Given the description of an element on the screen output the (x, y) to click on. 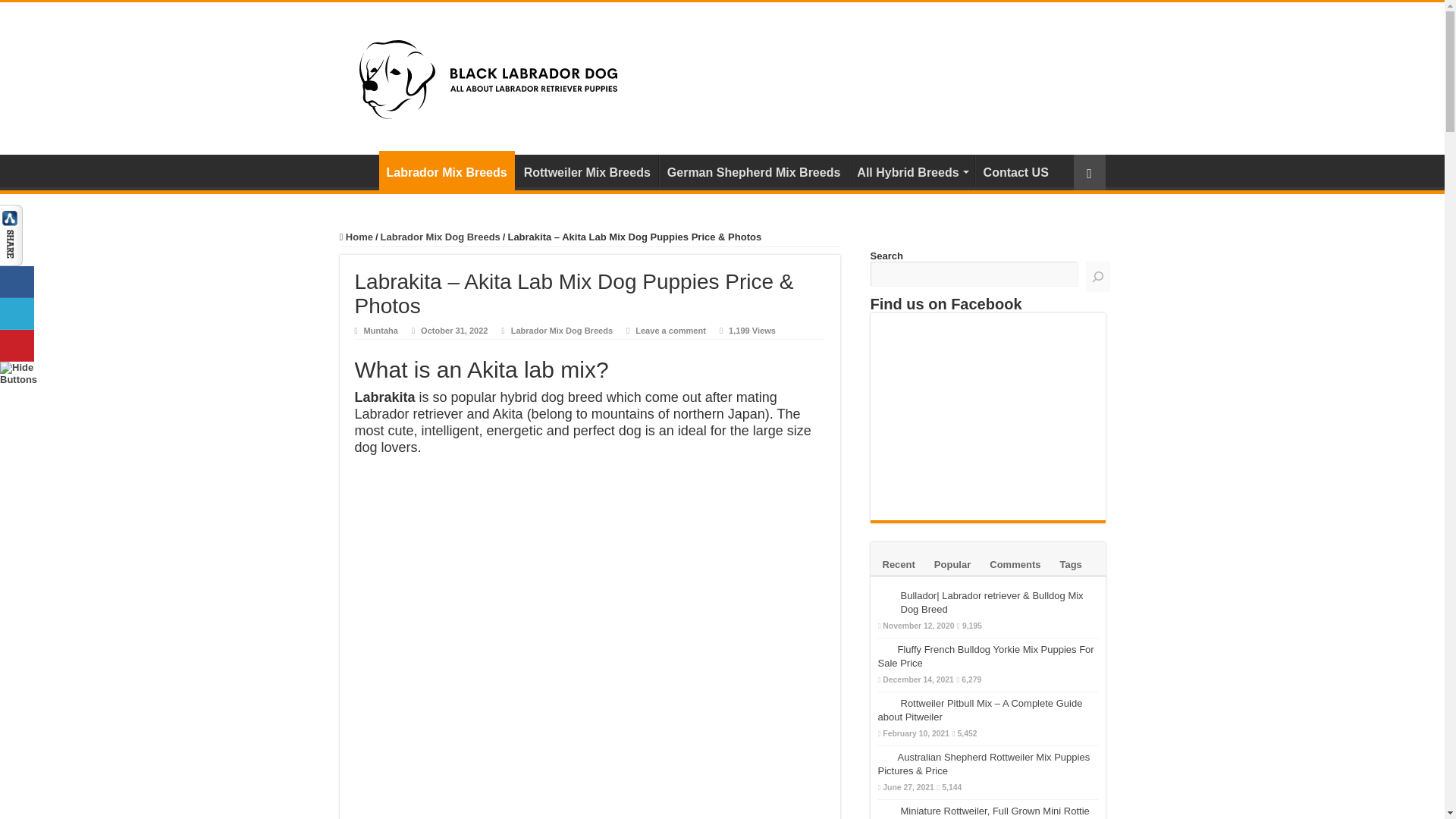
All Hybrid Breeds (911, 170)
Leave a comment (670, 329)
Contact US (1016, 170)
Random Article (1089, 172)
Muntaha (380, 329)
Labrador Mix Breeds (446, 170)
Black Labrador Dog (488, 75)
Rottweiler Mix Breeds (586, 170)
Home (355, 236)
Labrador Mix Dog Breeds (440, 236)
